Given the description of an element on the screen output the (x, y) to click on. 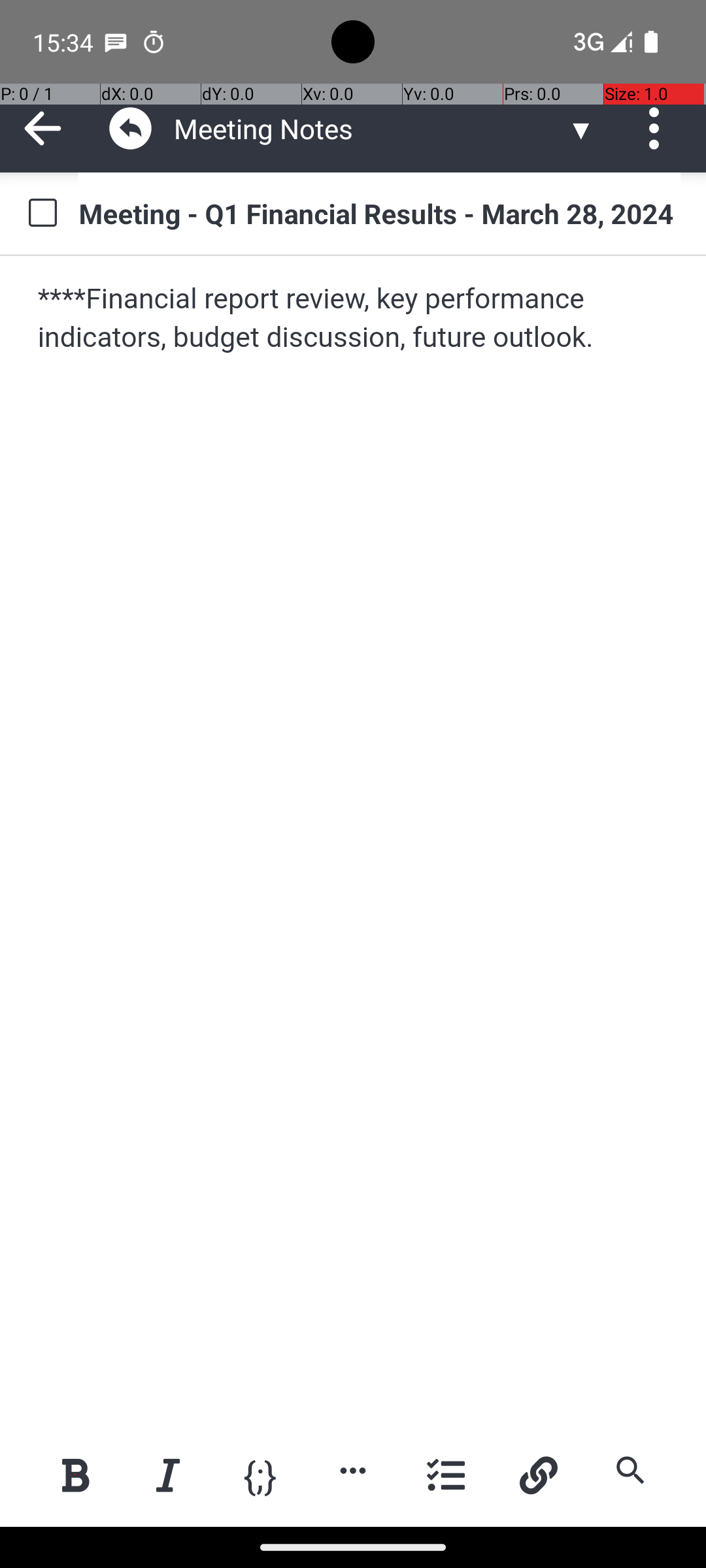
****Financial report review, key performance indicators, budget discussion, future outlook. Element type: android.widget.EditText (354, 318)
